Given the description of an element on the screen output the (x, y) to click on. 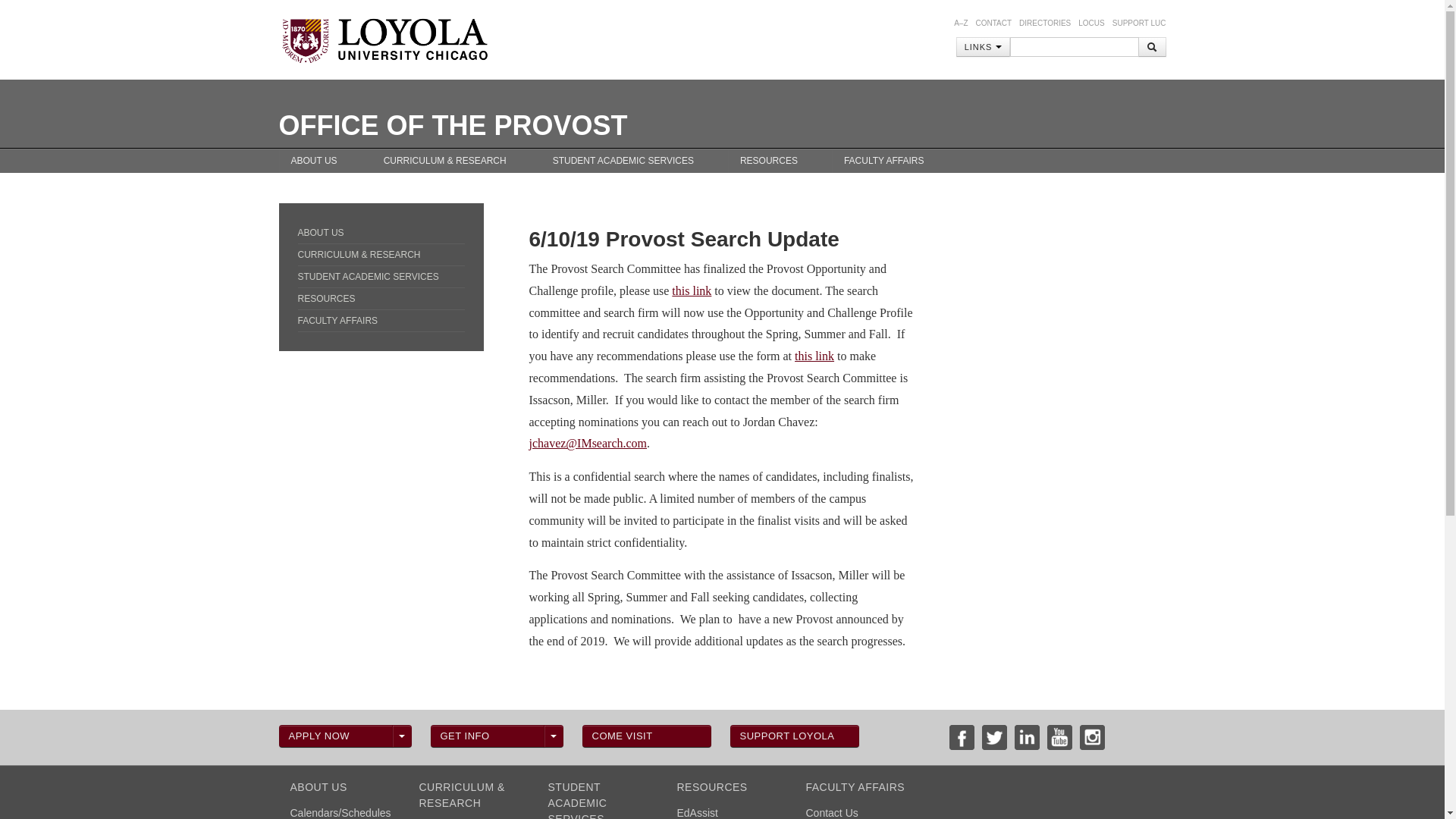
LOCUS (1090, 22)
LINKS (983, 46)
CONTACT (993, 22)
Search Field (1074, 46)
DIRECTORIES (1044, 22)
SUPPORT LUC (1139, 22)
